Given the description of an element on the screen output the (x, y) to click on. 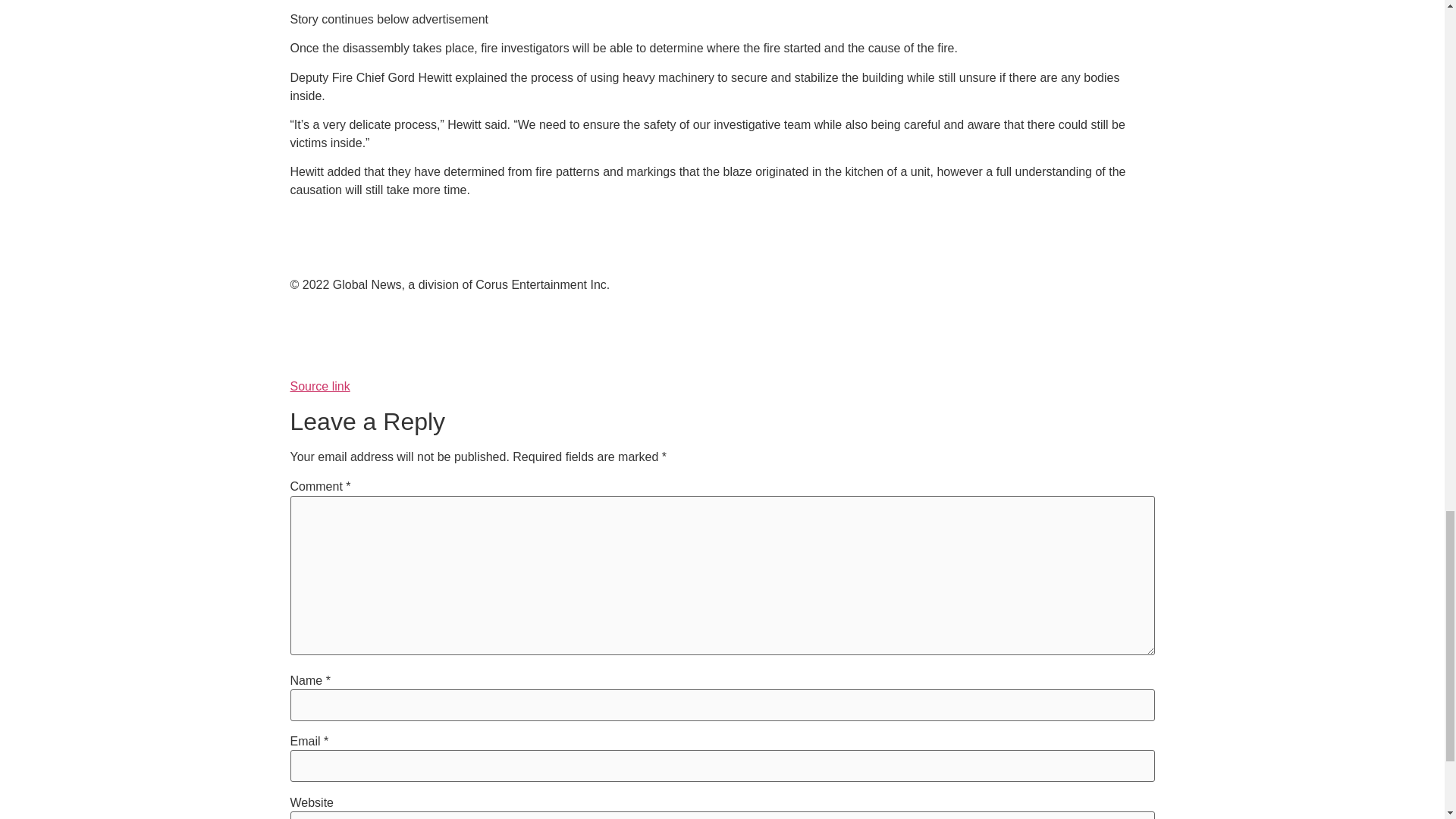
Source link (319, 386)
